Given the description of an element on the screen output the (x, y) to click on. 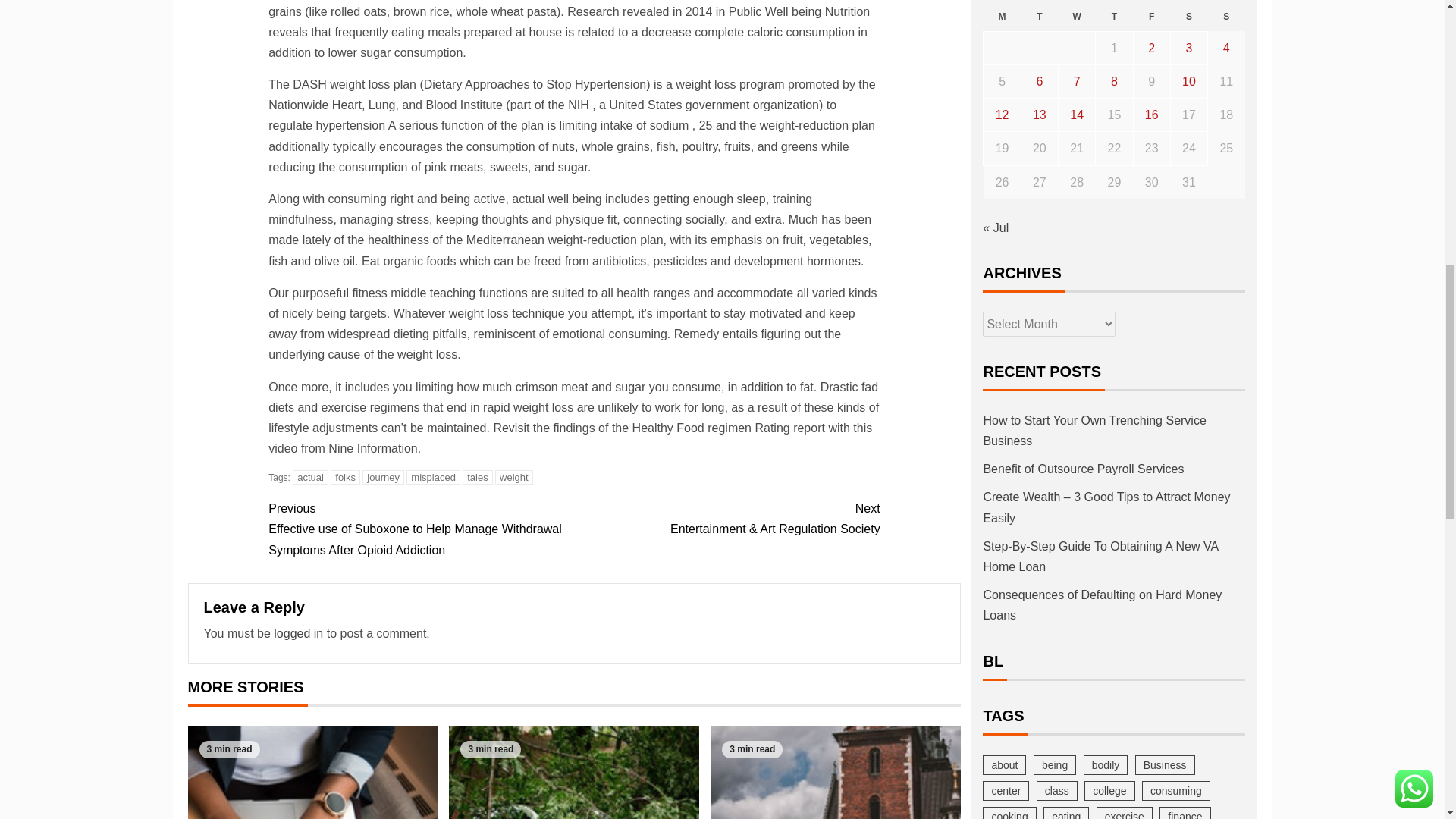
Top Reasons Why People Donate (835, 772)
weight (513, 477)
journey (383, 477)
The Many Names of Cash Loans (573, 772)
misplaced (433, 477)
actual (310, 477)
Learn More About Personal Loans! (312, 772)
folks (344, 477)
tales (477, 477)
